Given the description of an element on the screen output the (x, y) to click on. 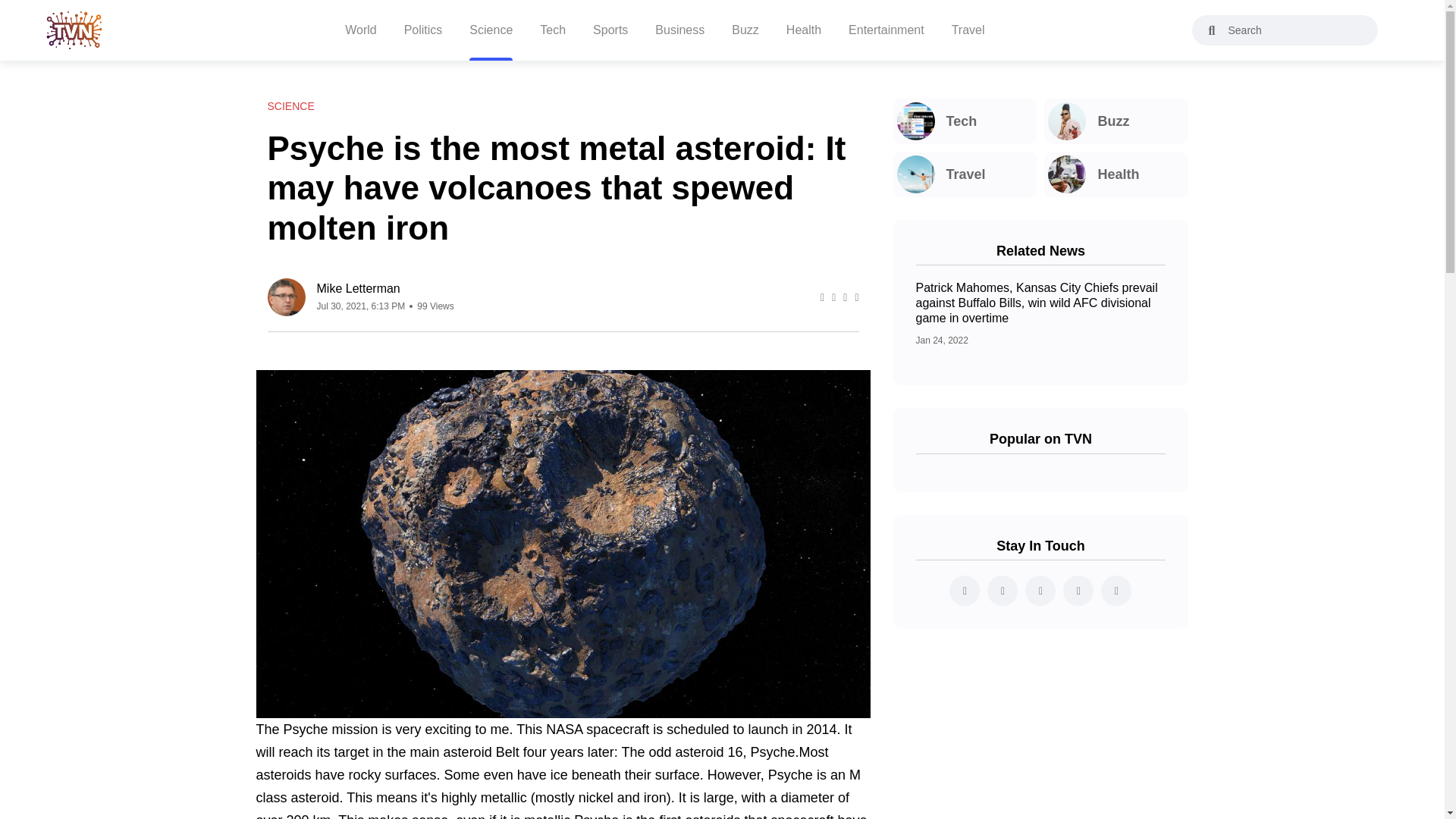
Health (1115, 174)
Entertainment (886, 30)
SCIENCE (290, 105)
Mike Letterman (385, 288)
Buzz (1115, 121)
Tech (964, 121)
Travel (964, 174)
